Given the description of an element on the screen output the (x, y) to click on. 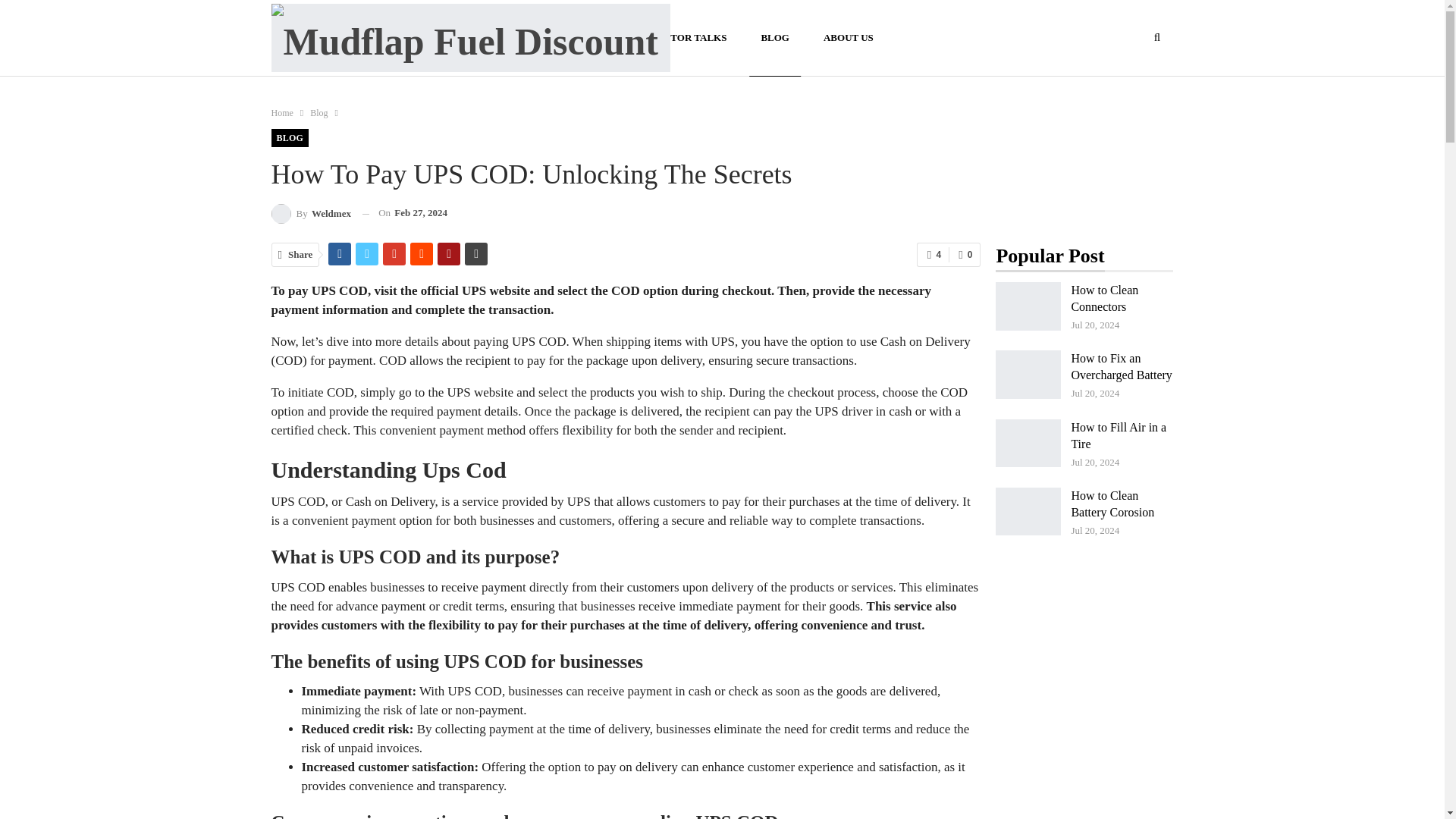
Browse Author Articles (310, 213)
By Weldmex (310, 213)
TRACTOR TALKS (684, 38)
ABOUT US (848, 38)
0 (964, 254)
Blog (318, 112)
BLOG (289, 137)
FUEL DISCOUNT (568, 38)
Home (282, 112)
